Given the description of an element on the screen output the (x, y) to click on. 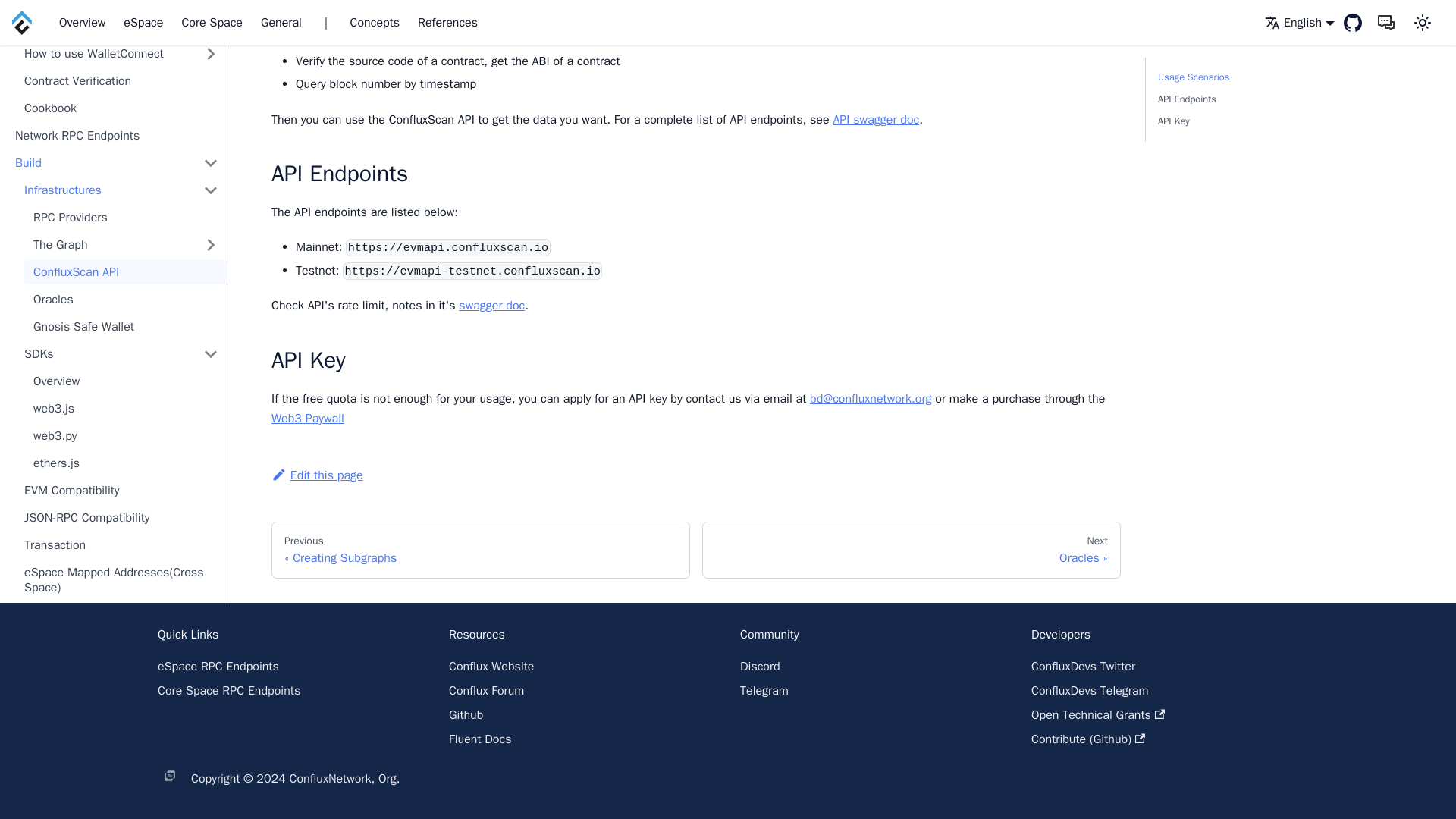
RPC Providers (125, 98)
The Graph (108, 125)
Network RPC Endpoints (116, 16)
Build (99, 43)
Infrastructures (103, 70)
